Given the description of an element on the screen output the (x, y) to click on. 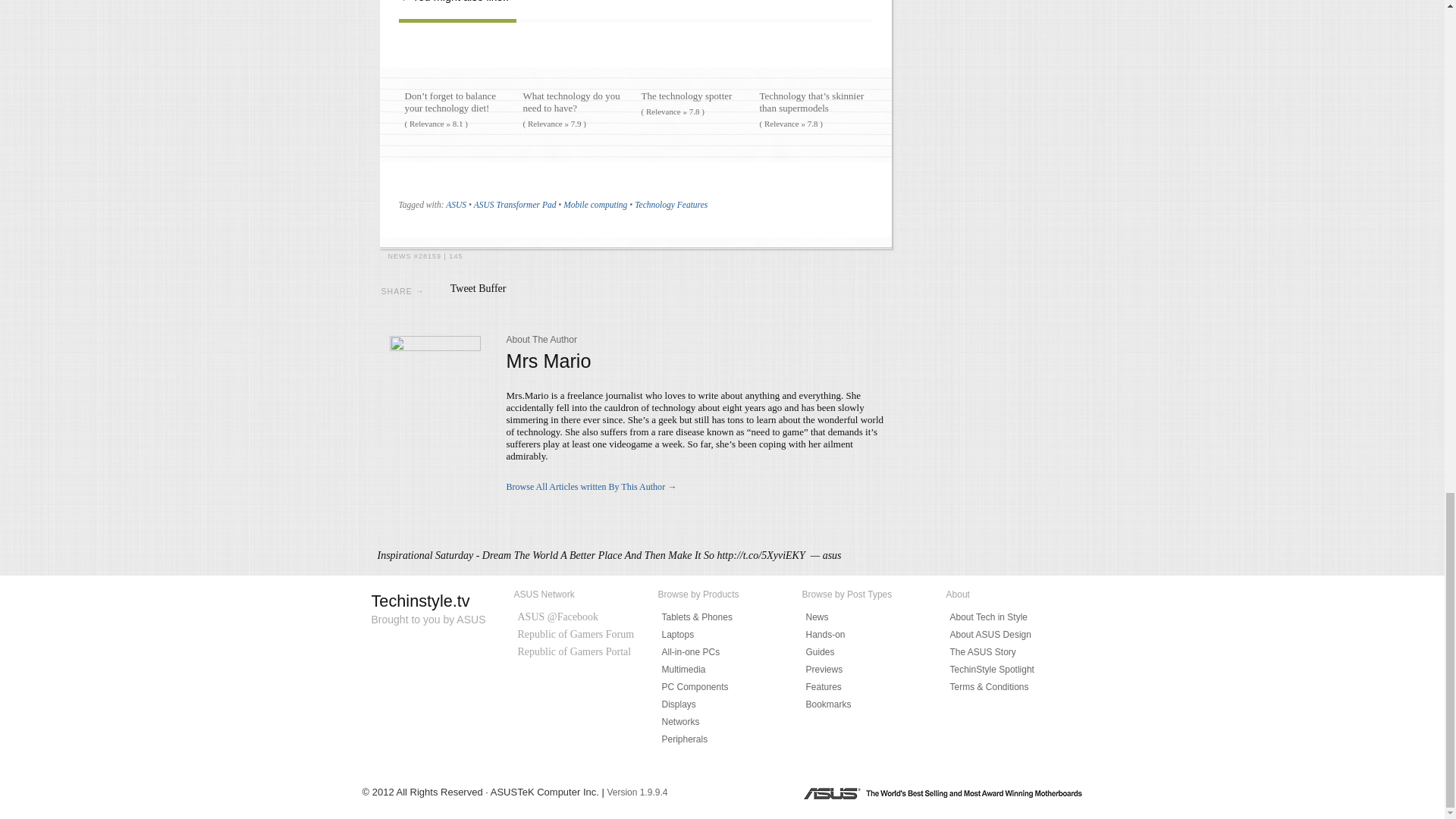
Technology Features (670, 204)
Mobile computing (595, 204)
ASUS Transformer Pad (515, 204)
ASUS (455, 204)
